Given the description of an element on the screen output the (x, y) to click on. 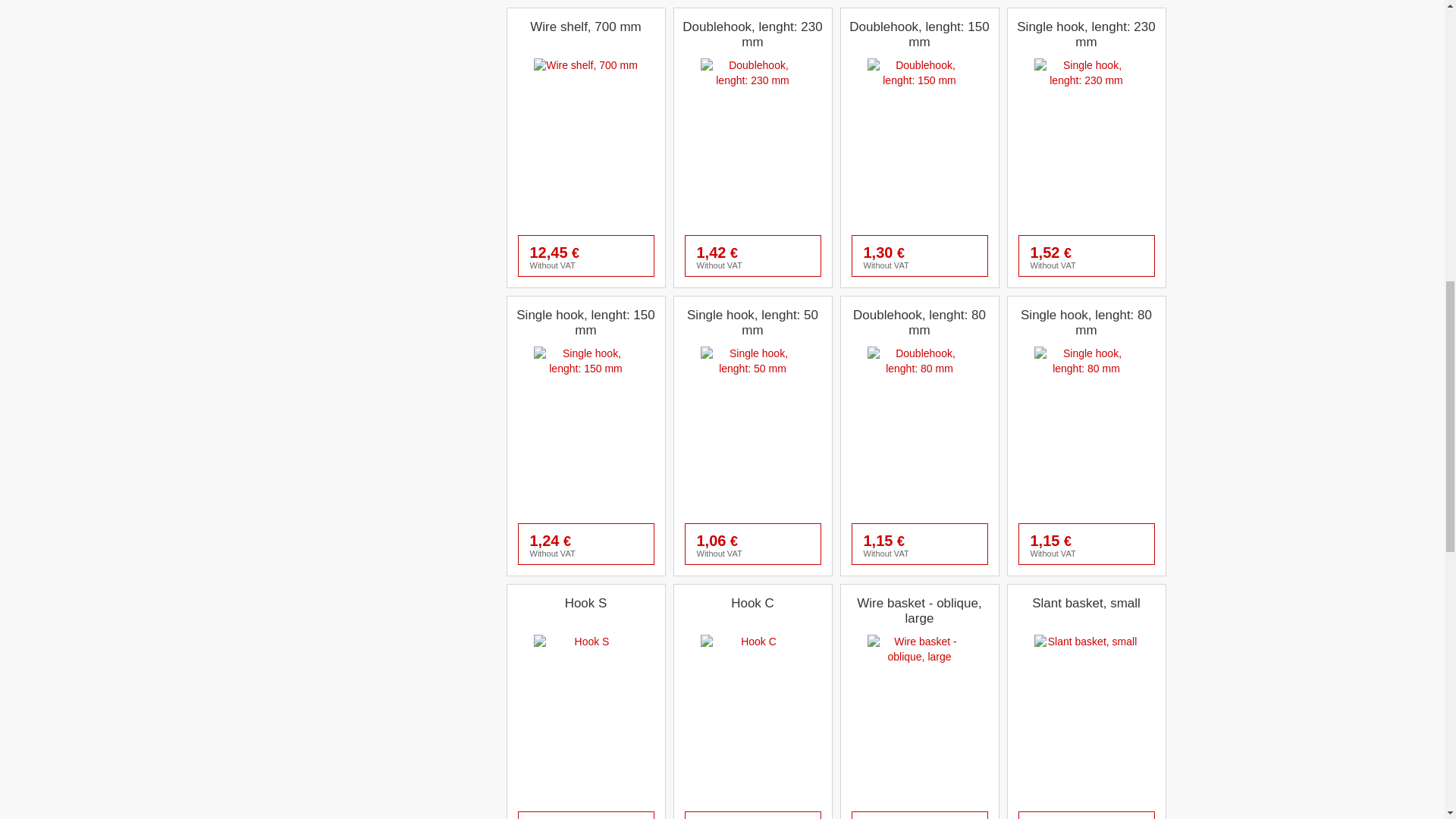
Buy (628, 255)
Buy (962, 255)
Buy (796, 255)
